Given the description of an element on the screen output the (x, y) to click on. 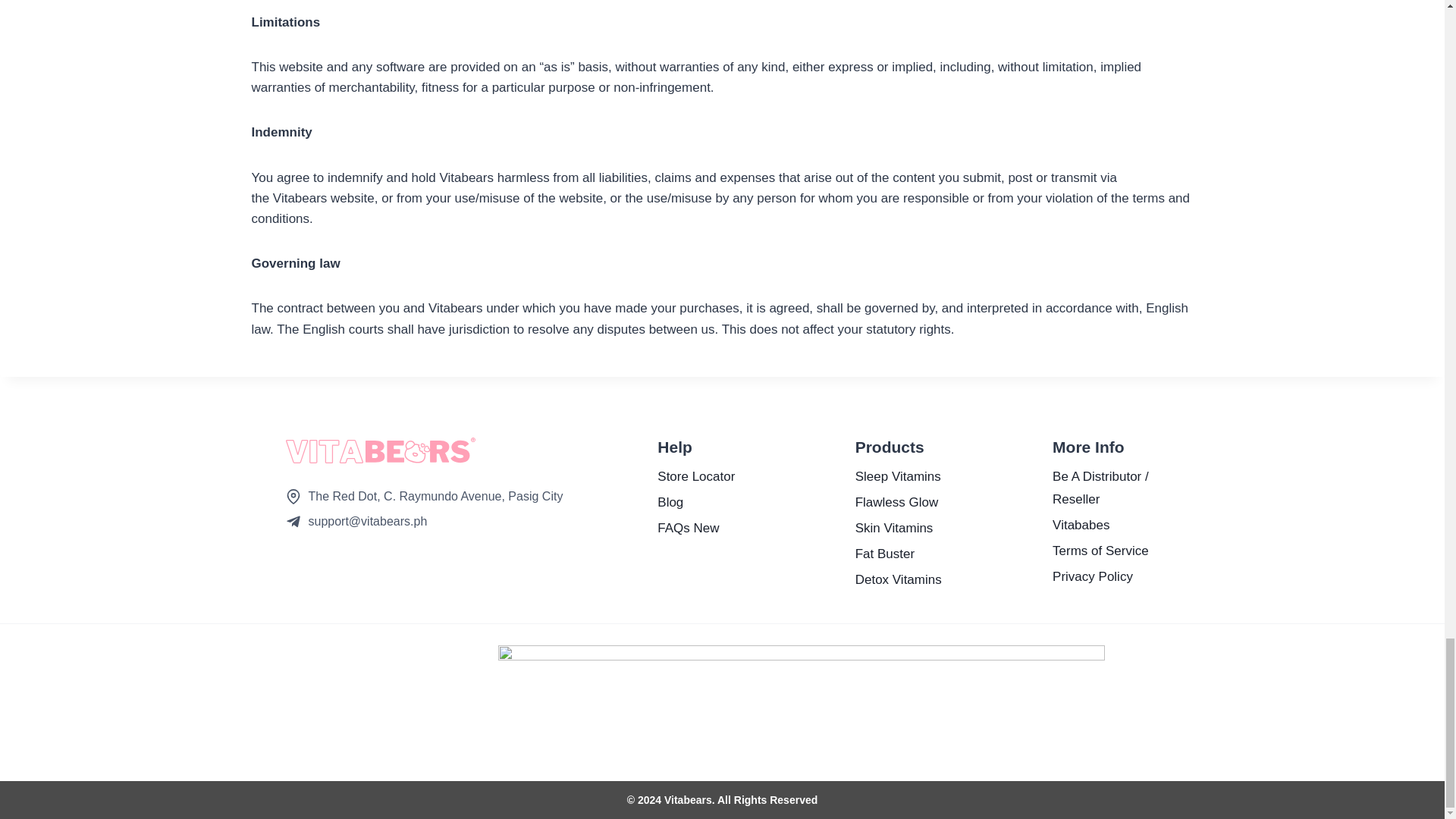
Fat Buster (908, 554)
Privacy Policy (1105, 576)
Vitababes (1105, 525)
Blog (710, 502)
FAQs New (710, 528)
Skin Vitamins (908, 528)
Terms of Service (1105, 551)
Detox Vitamins (908, 579)
Flawless Glow (908, 502)
Store Locator (710, 476)
